Given the description of an element on the screen output the (x, y) to click on. 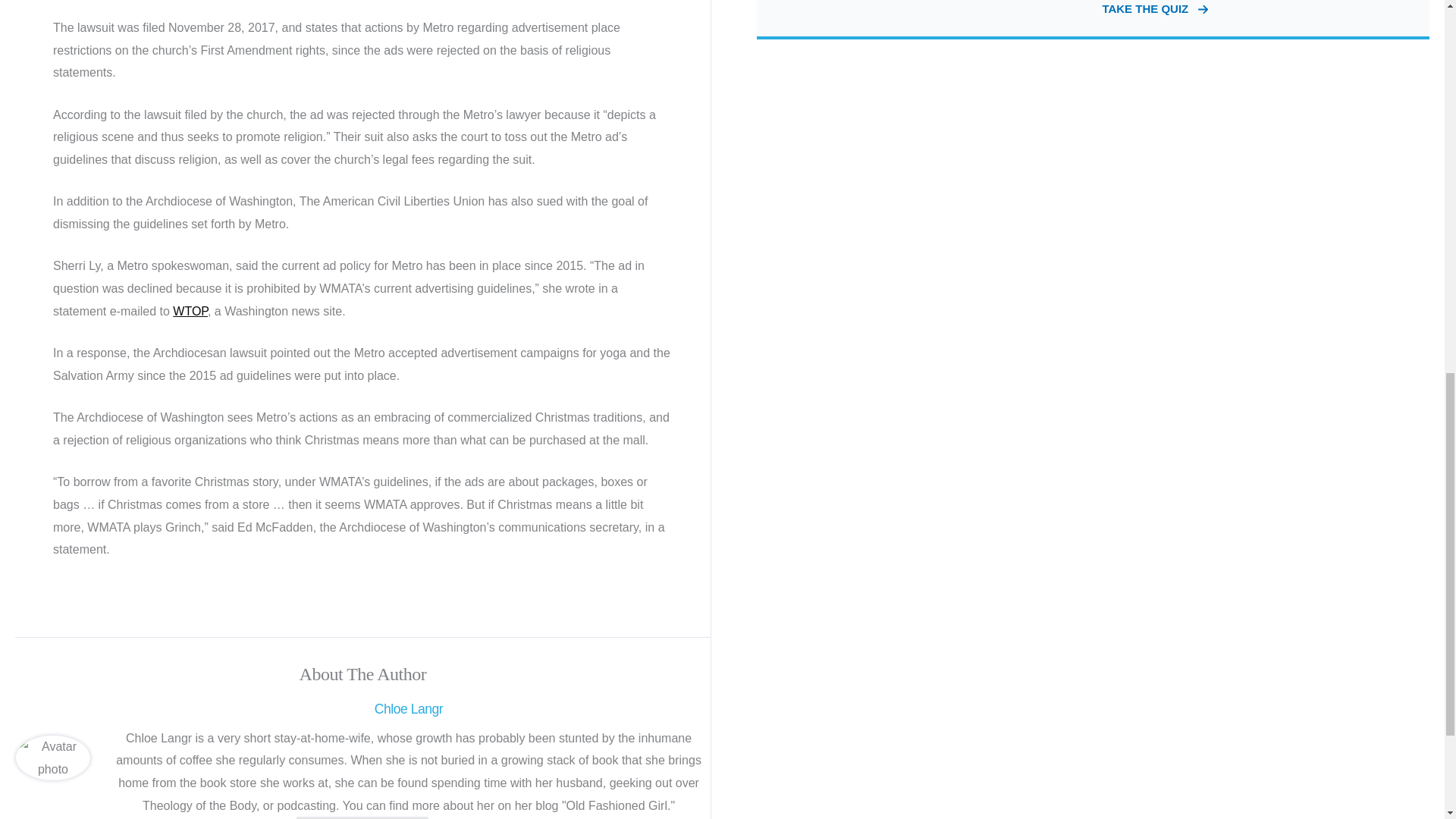
WTOP (190, 310)
Load Comments (362, 817)
Chloe Langr (408, 709)
